Given the description of an element on the screen output the (x, y) to click on. 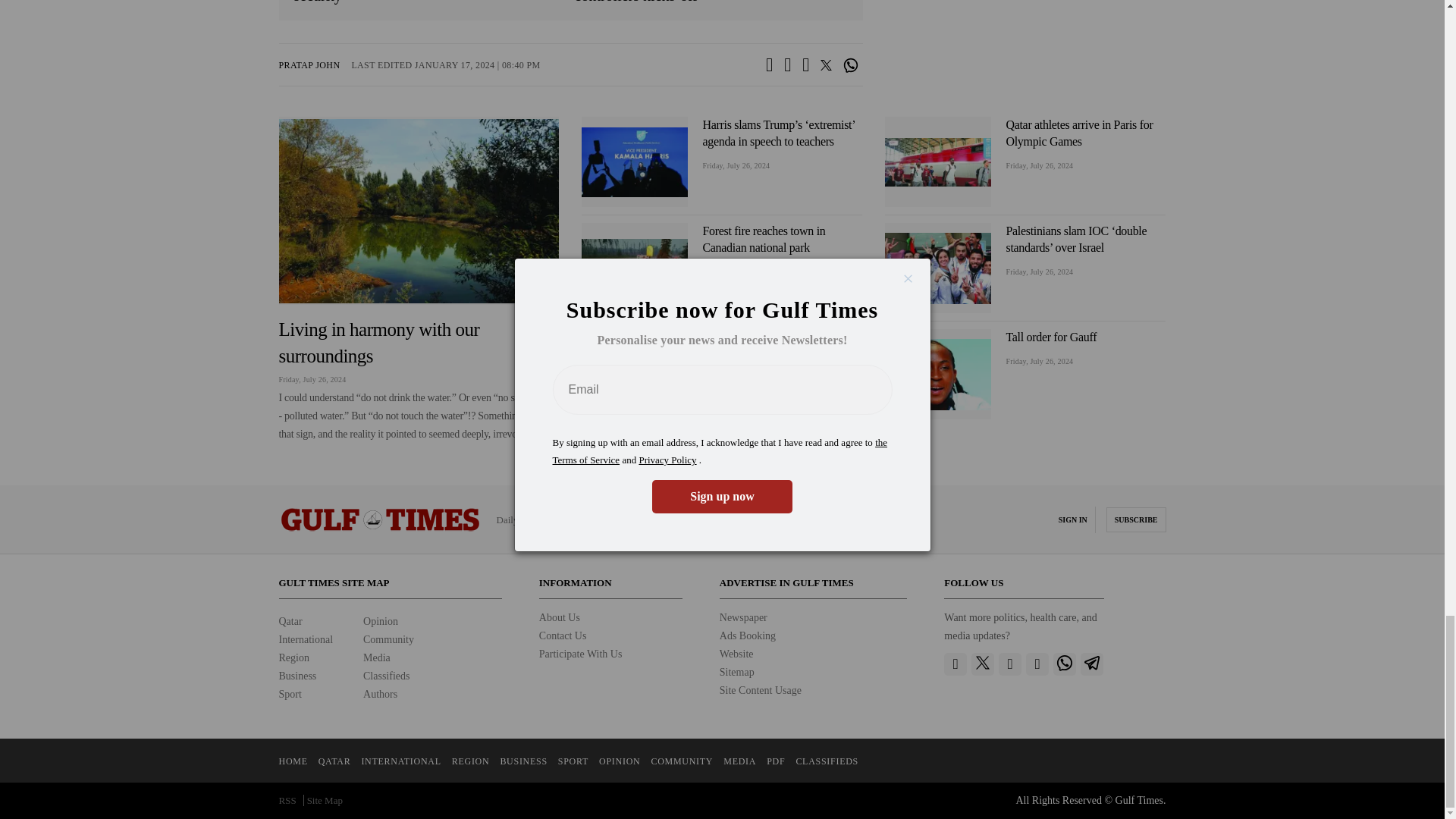
PRATAP JOHN (309, 64)
Qatar, US sign pact to enhance aviation security (430, 2)
